Given the description of an element on the screen output the (x, y) to click on. 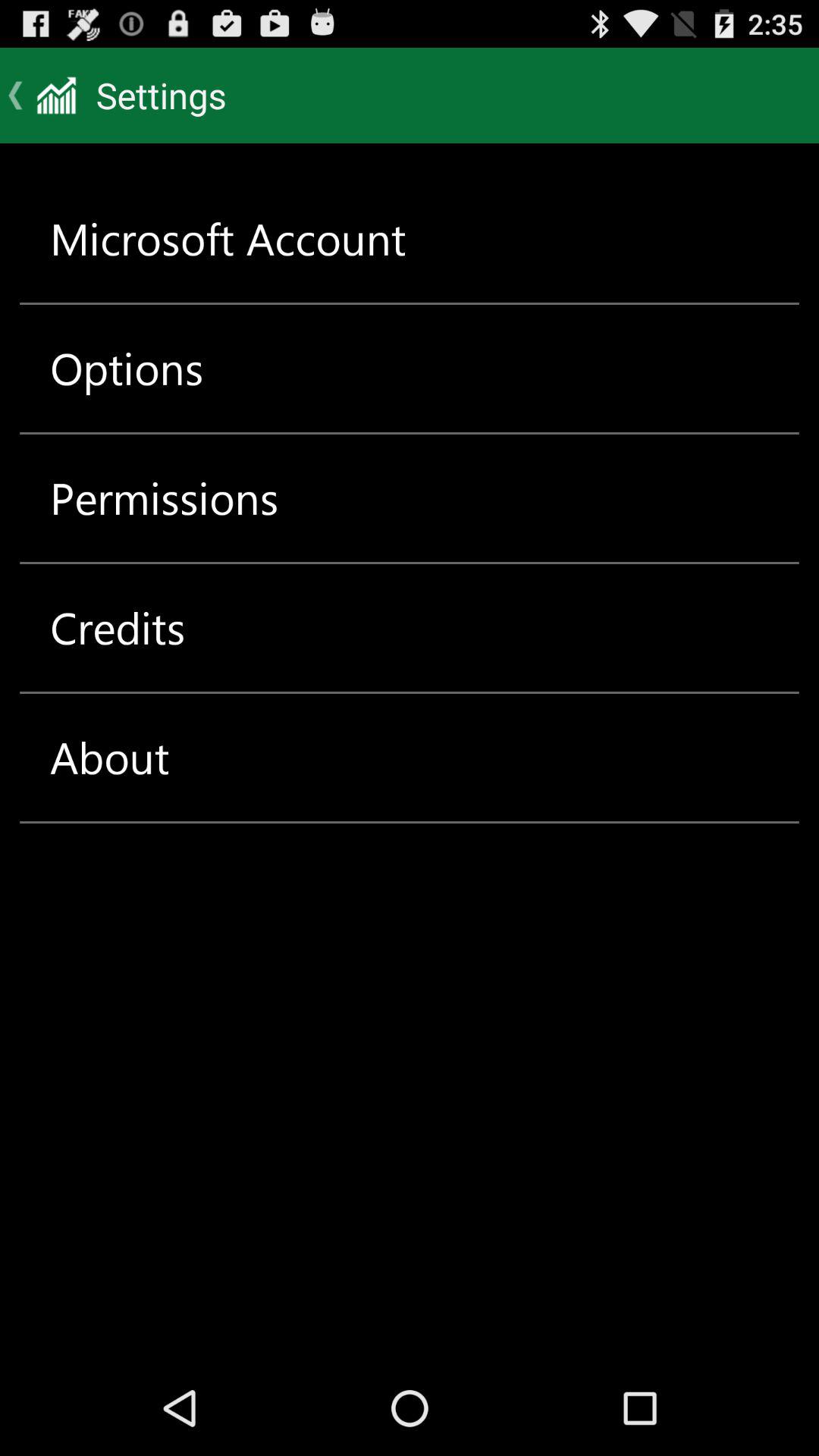
swipe until about (109, 757)
